Given the description of an element on the screen output the (x, y) to click on. 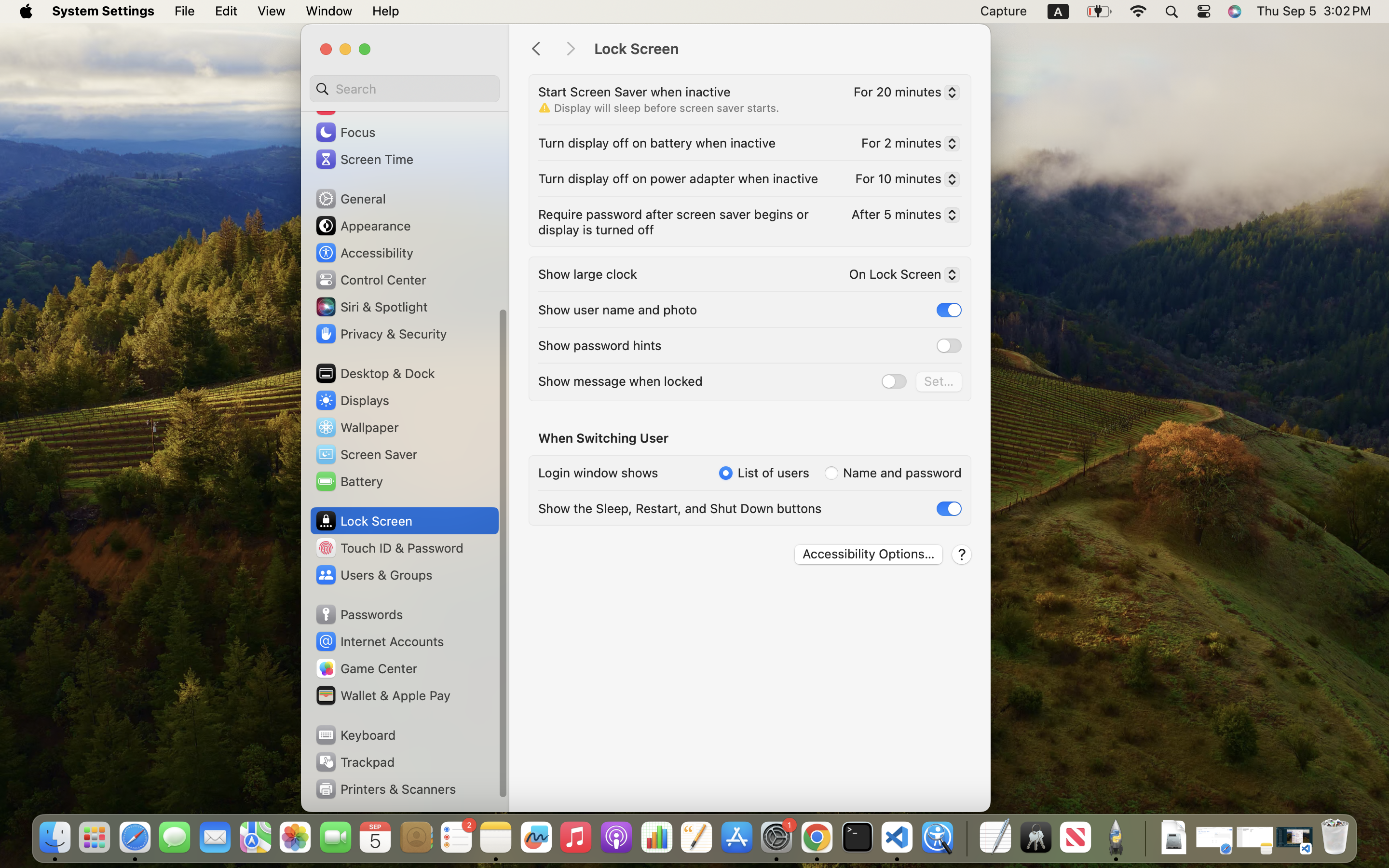
Users & Groups Element type: AXStaticText (373, 574)
Show user name and photo Element type: AXStaticText (617, 309)
Turn display off on battery when inactive Element type: AXStaticText (656, 142)
